Given the description of an element on the screen output the (x, y) to click on. 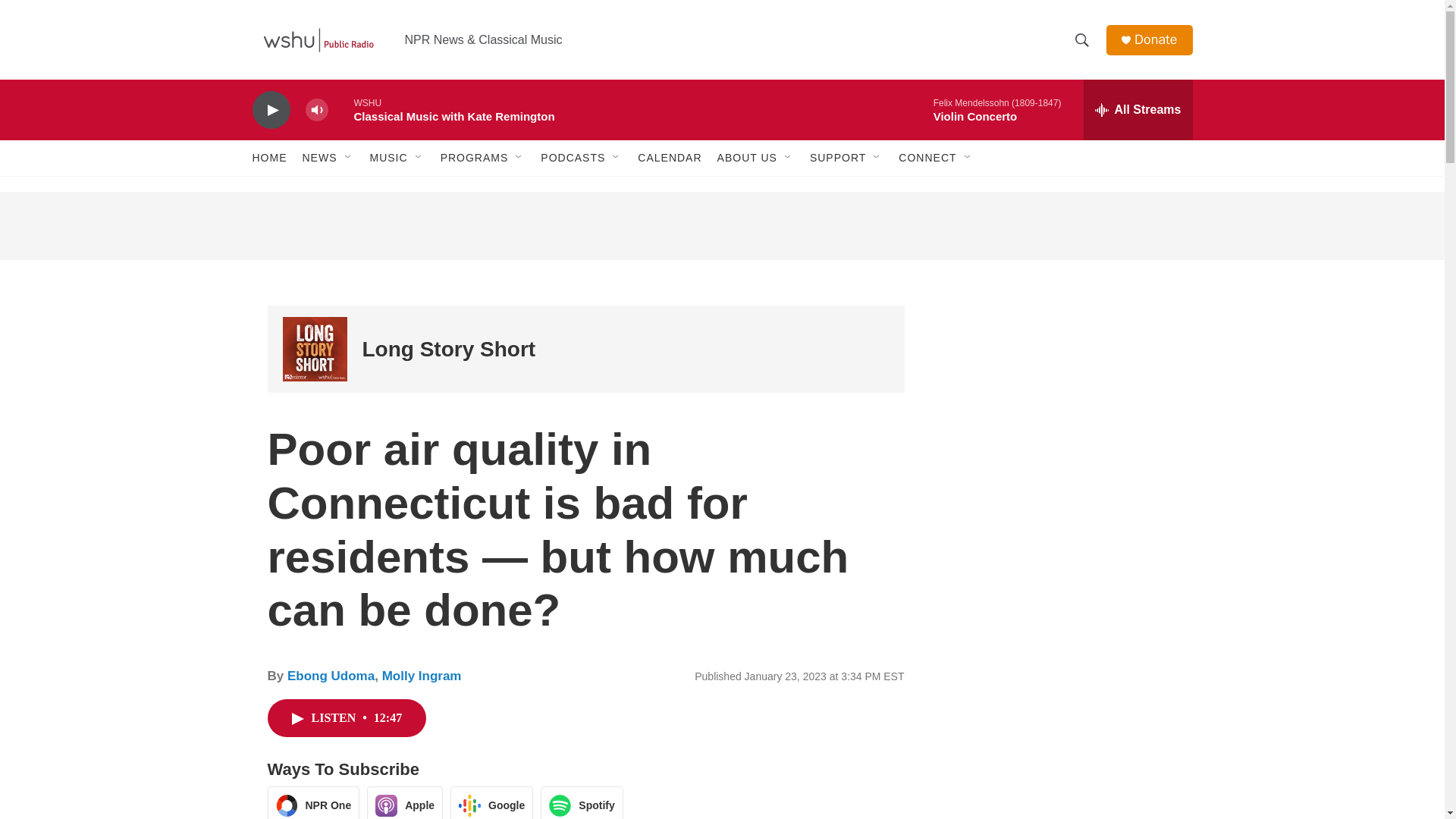
3rd party ad content (1062, 782)
3rd party ad content (1062, 619)
3rd party ad content (721, 225)
3rd party ad content (1062, 400)
